Given the description of an element on the screen output the (x, y) to click on. 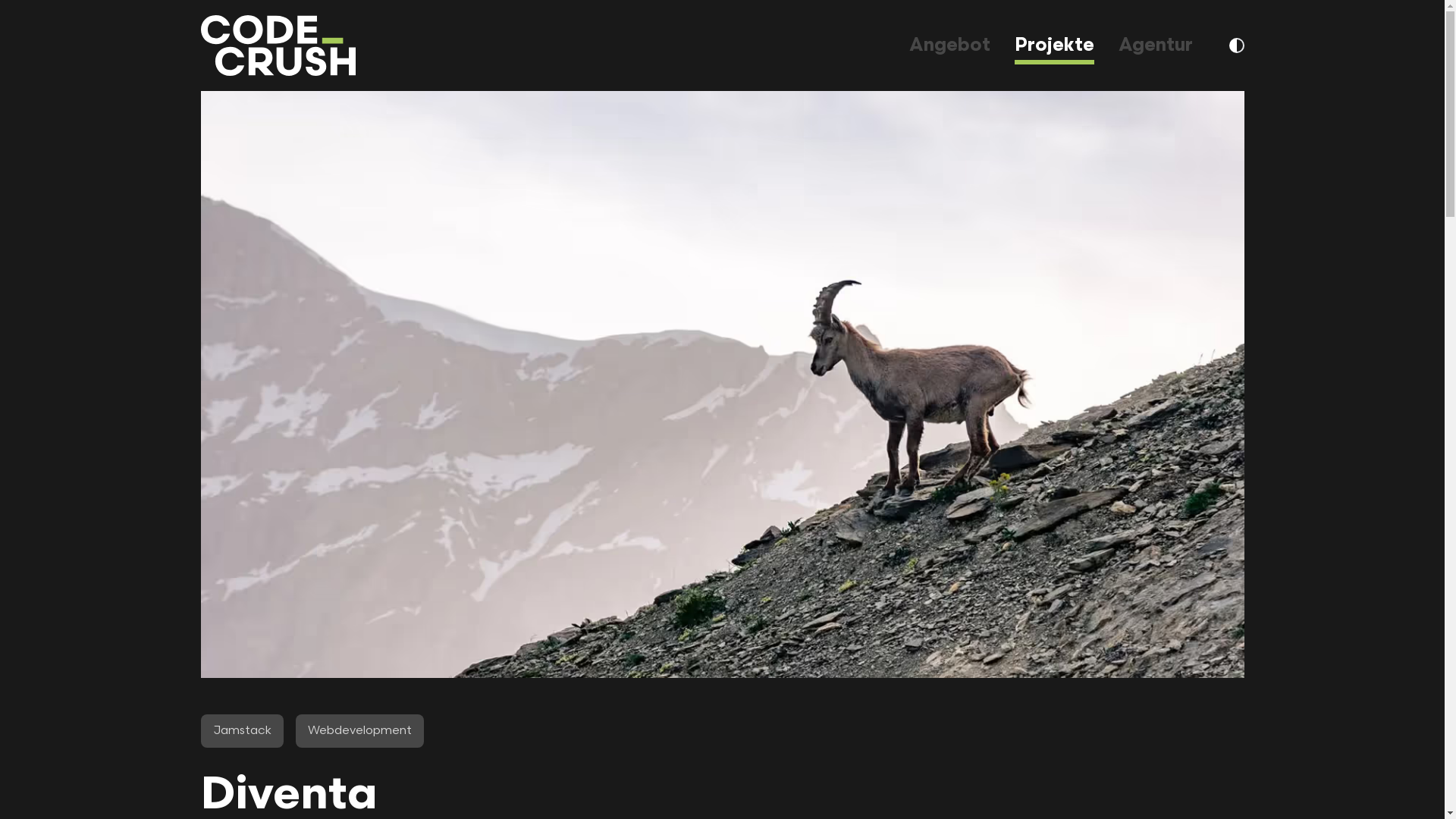
Agentur Element type: text (1154, 45)
Projekte Element type: text (1054, 45)
Angebot Element type: text (948, 45)
Link zur Home-Seite Element type: hover (277, 45)
